Given the description of an element on the screen output the (x, y) to click on. 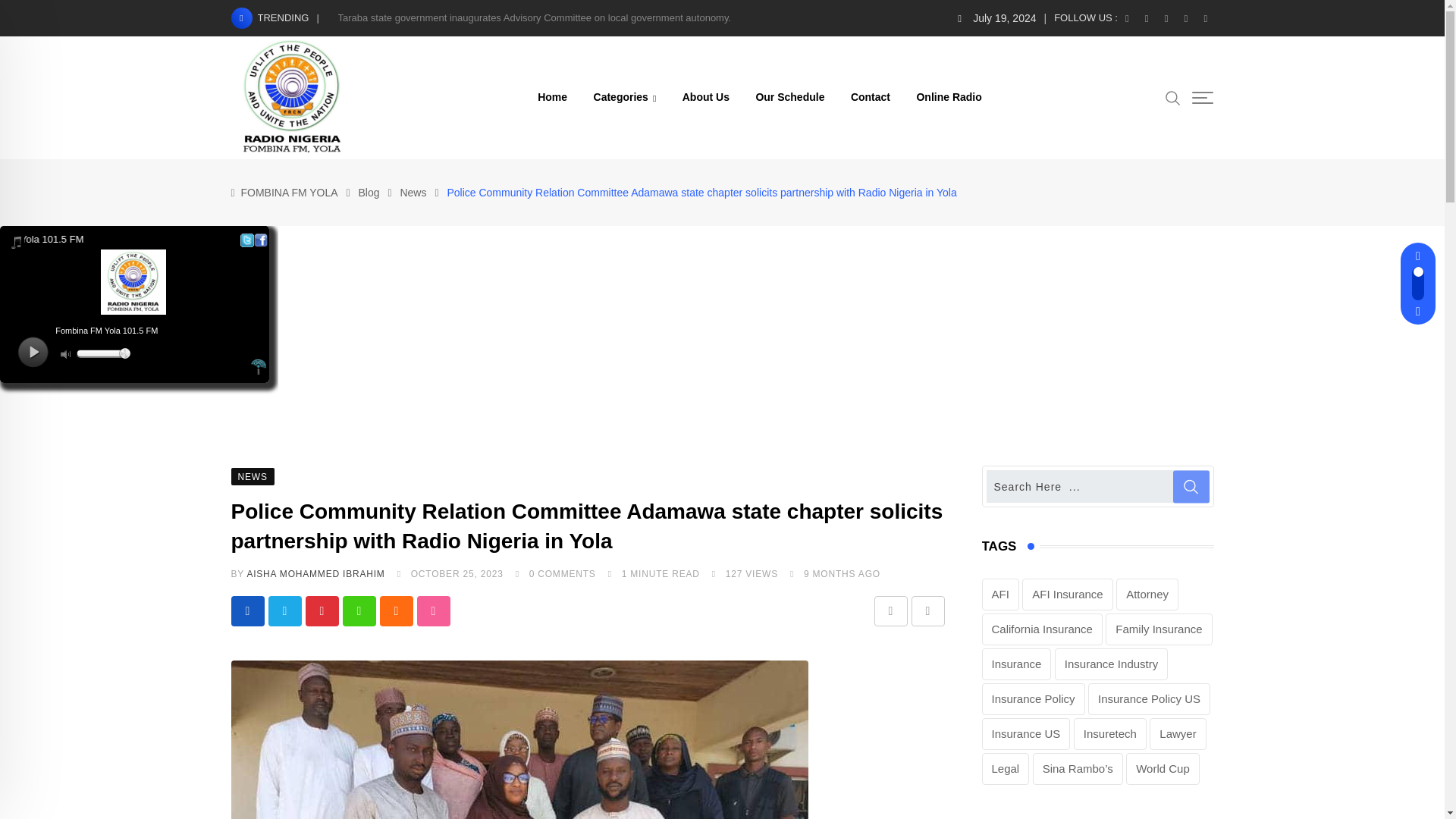
Go to the News category archives. (412, 192)
Contact (870, 96)
Online Radio (948, 96)
Search (1173, 96)
Posts by Aisha Mohammed Ibrahim (315, 573)
About Us (706, 96)
Our Schedule (789, 96)
Go to Blog. (369, 192)
Home (551, 96)
Categories (625, 97)
Go to FOMBINA FM YOLA. (289, 192)
